Given the description of an element on the screen output the (x, y) to click on. 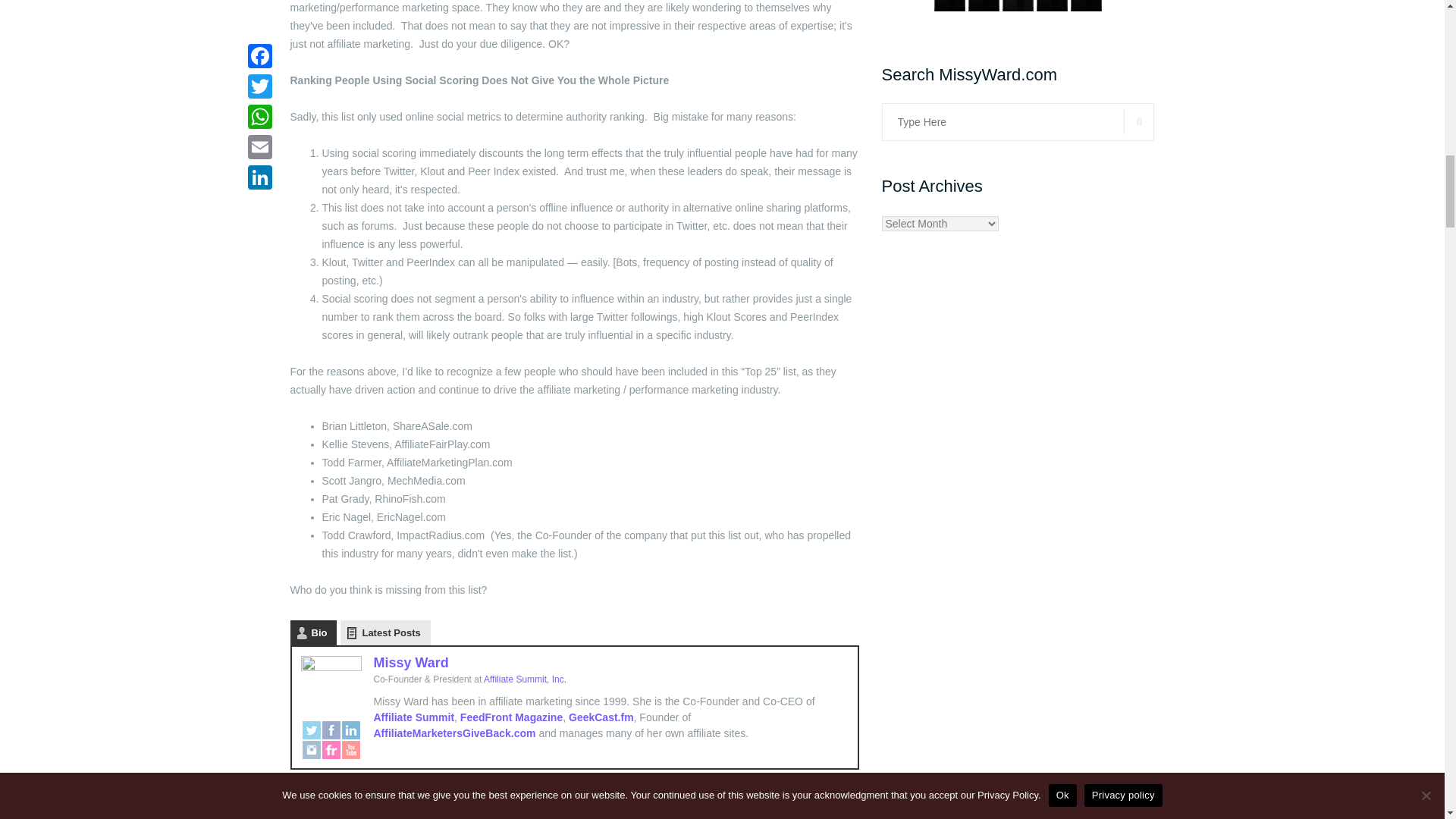
Affiliate Summit (413, 717)
Affiliate Summit, Inc. (524, 679)
GeekCast.fm (601, 717)
Missy Ward (410, 662)
Twitter (310, 729)
Latest Posts (384, 632)
AffiliateMarketersGiveBack.com (453, 733)
Instagram (310, 748)
Flickr (330, 748)
YouTube (349, 748)
LinkedIn (349, 729)
FeedFront Magazine (511, 717)
Facebook (330, 729)
Bio (312, 632)
